Given the description of an element on the screen output the (x, y) to click on. 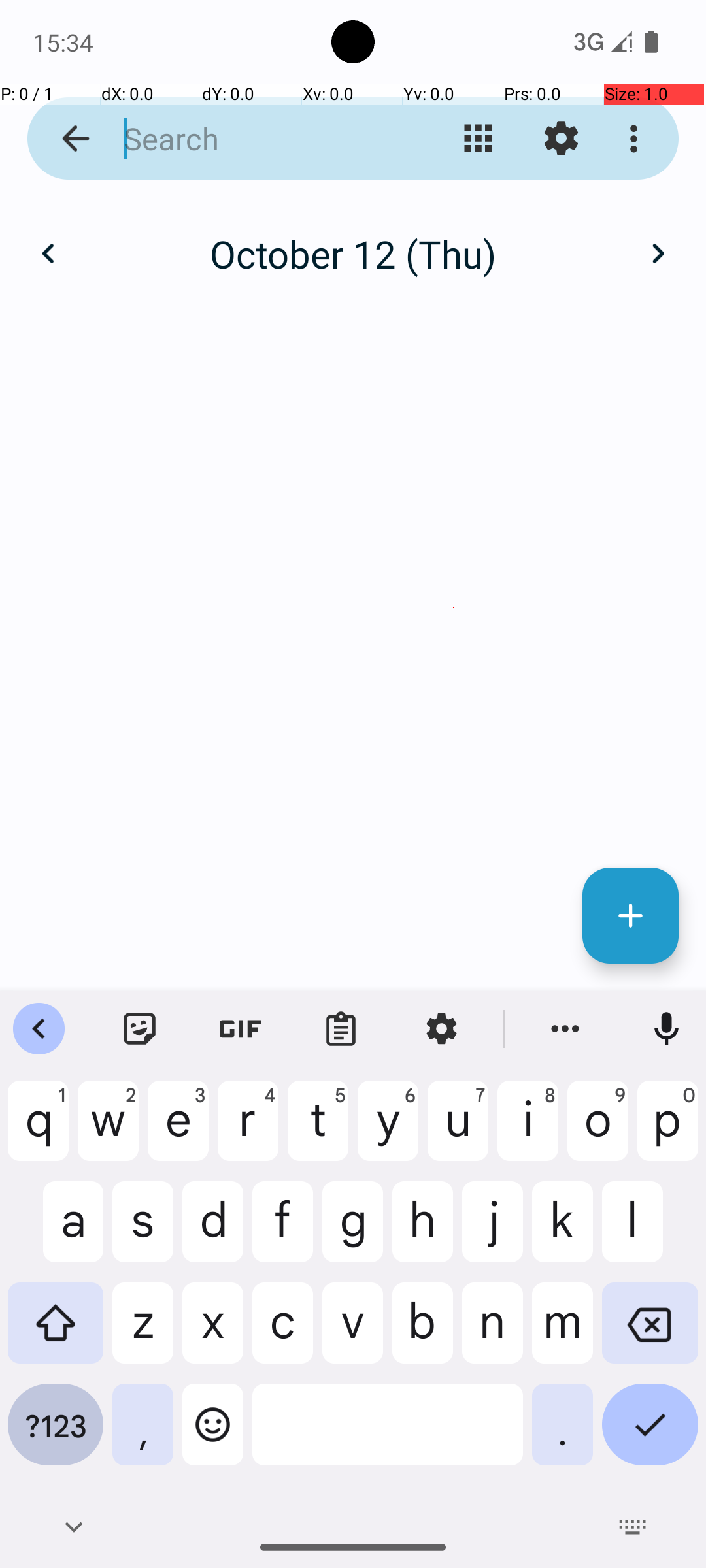
Change view Element type: android.widget.Button (477, 138)
New Event Element type: android.widget.ImageButton (630, 915)
October Element type: android.widget.TextView (352, 239)
October 12 (Thu) Element type: android.widget.TextView (352, 253)
